Given the description of an element on the screen output the (x, y) to click on. 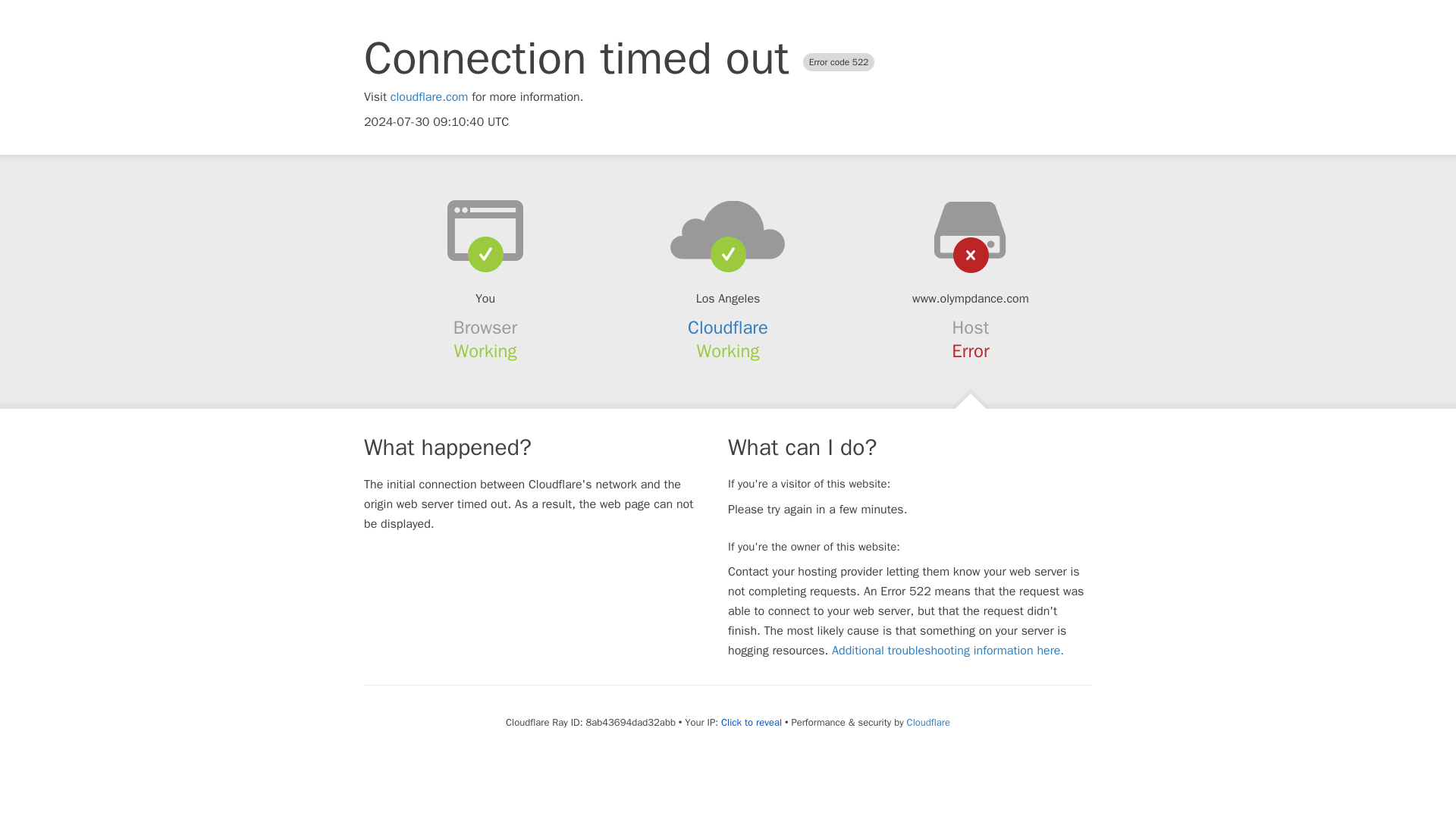
Click to reveal (750, 722)
cloudflare.com (429, 96)
Additional troubleshooting information here. (947, 650)
Cloudflare (928, 721)
Cloudflare (727, 327)
